Given the description of an element on the screen output the (x, y) to click on. 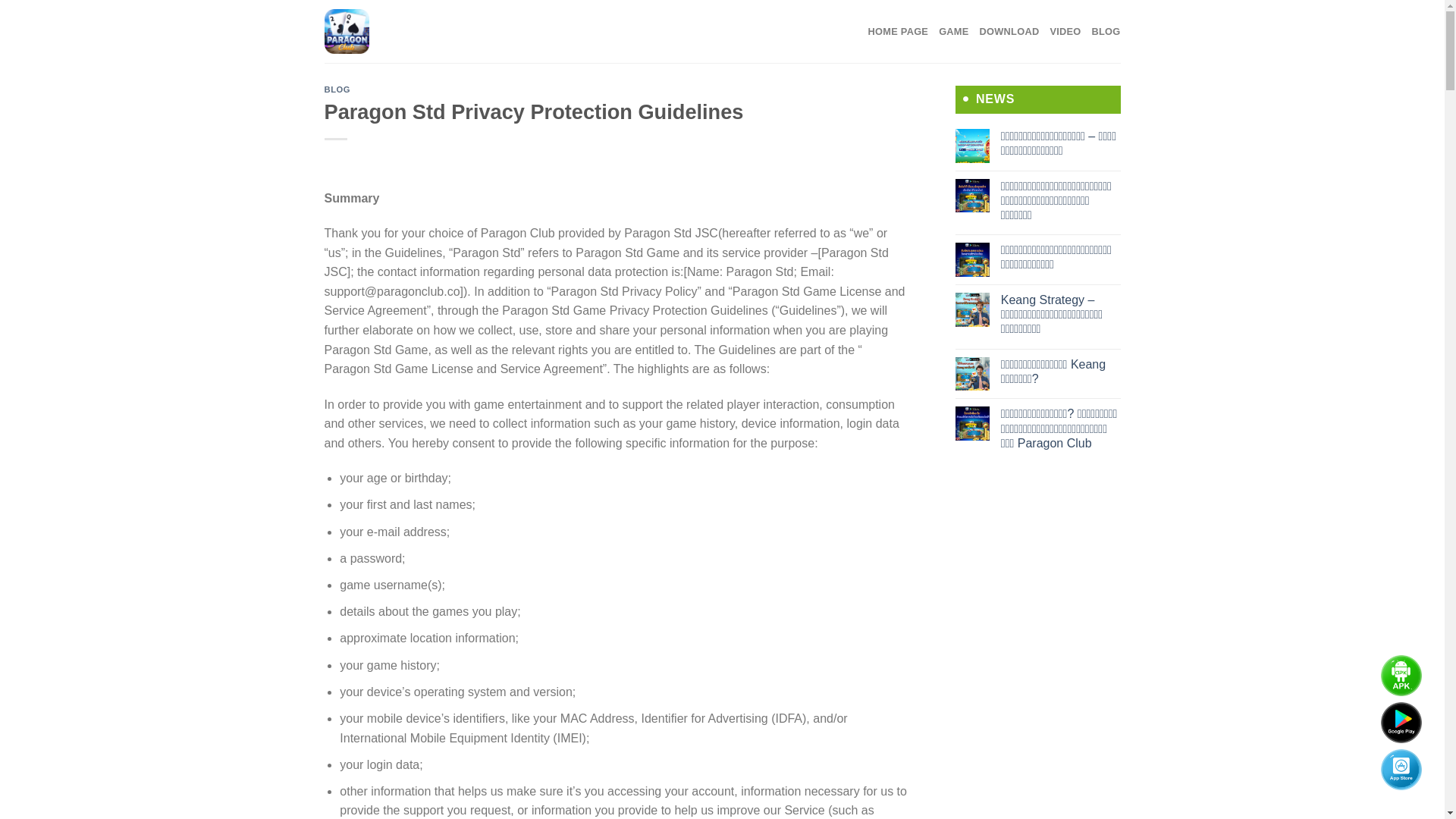
HOME PAGE (897, 31)
BLOG (337, 89)
Paragon Club - Paragon Club (391, 31)
DOWNLOAD (1009, 31)
